Given the description of an element on the screen output the (x, y) to click on. 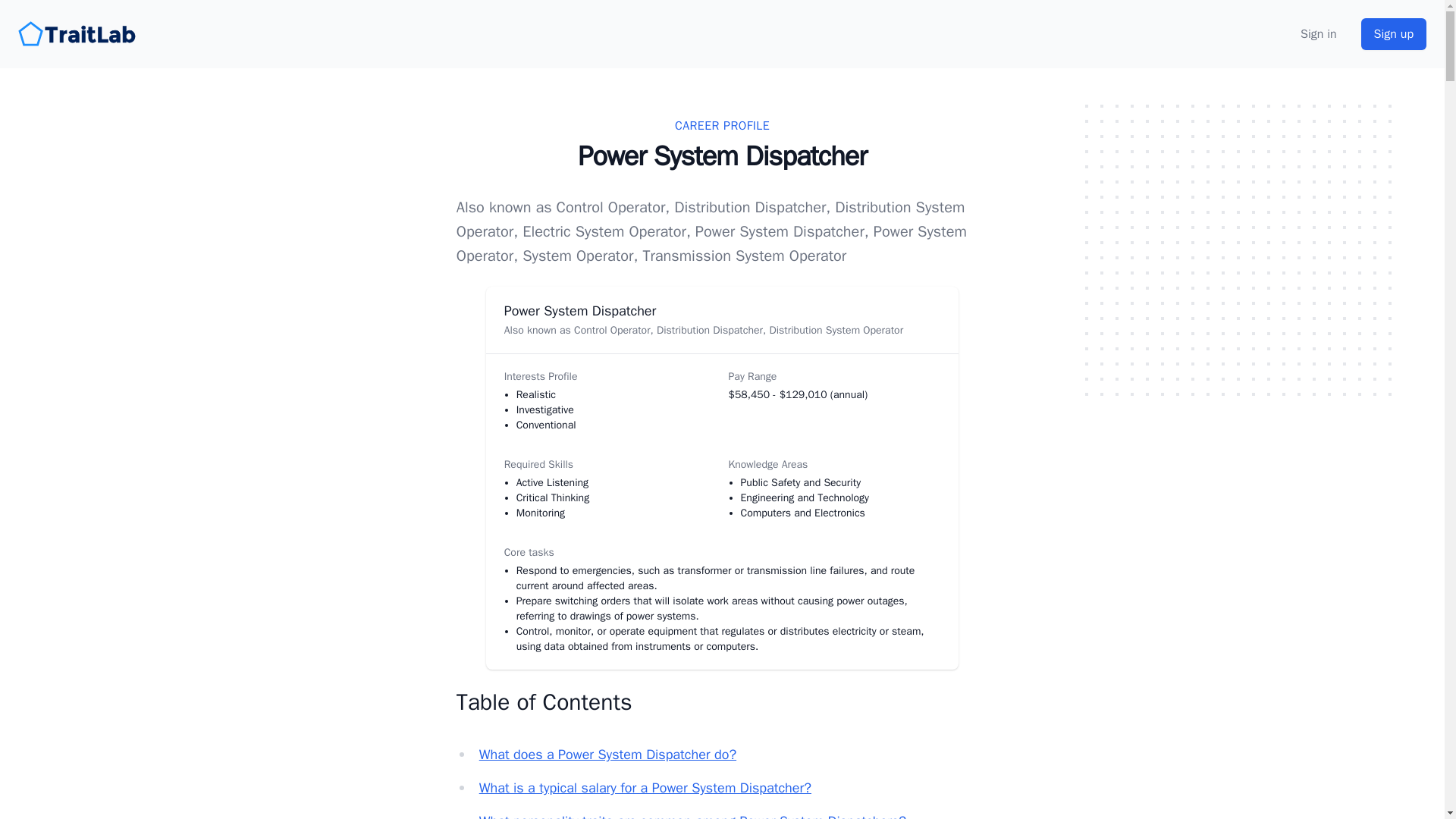
Sign in (1318, 34)
What is a typical salary for a Power System Dispatcher? (644, 787)
Sign up (1393, 33)
What does a Power System Dispatcher do? (607, 754)
TraitLab (78, 33)
